Given the description of an element on the screen output the (x, y) to click on. 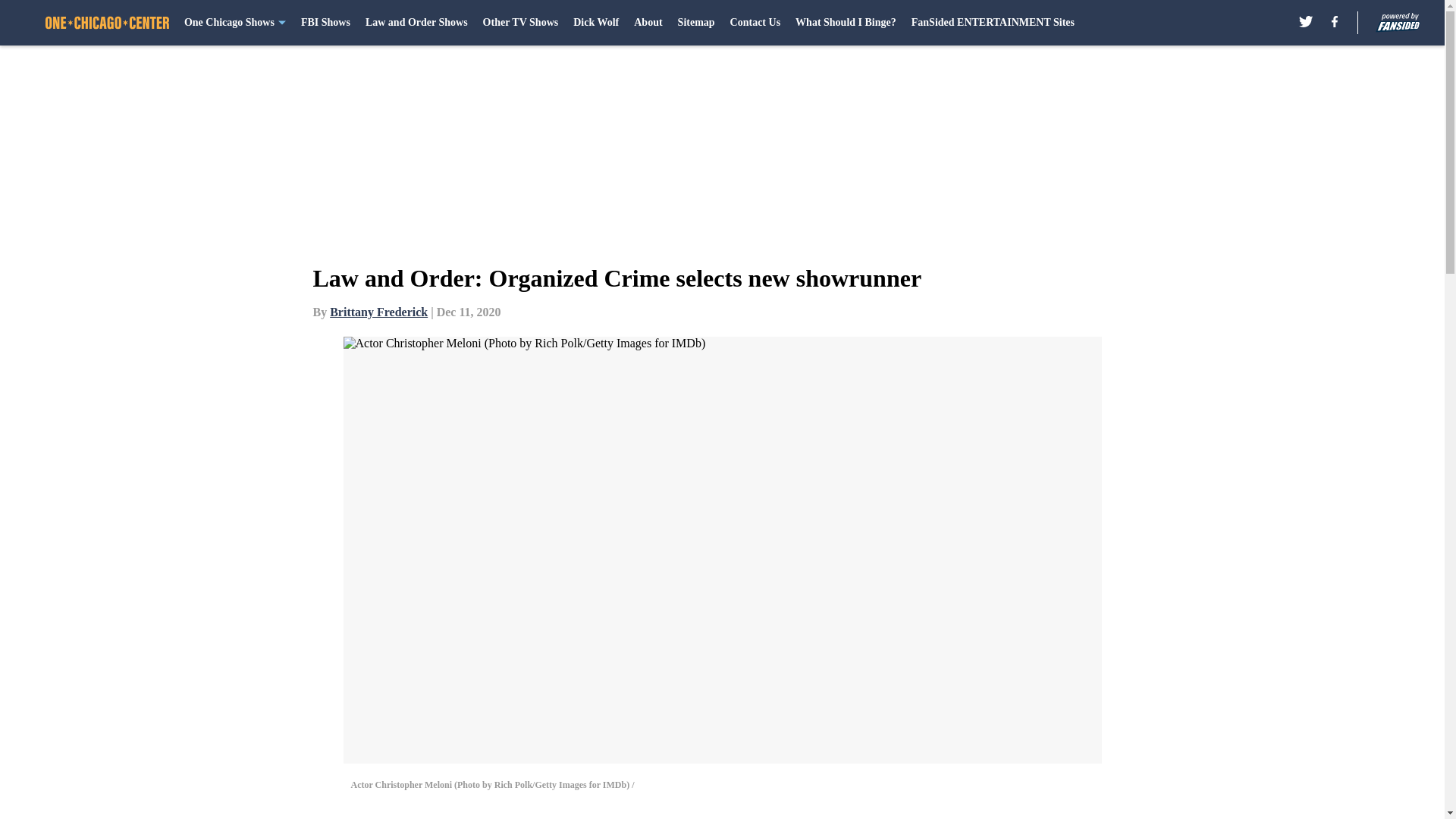
Law and Order Shows (416, 22)
Contact Us (755, 22)
Sitemap (696, 22)
FBI Shows (325, 22)
FanSided ENTERTAINMENT Sites (992, 22)
About (647, 22)
Other TV Shows (521, 22)
What Should I Binge? (845, 22)
Brittany Frederick (379, 311)
Dick Wolf (595, 22)
